Given the description of an element on the screen output the (x, y) to click on. 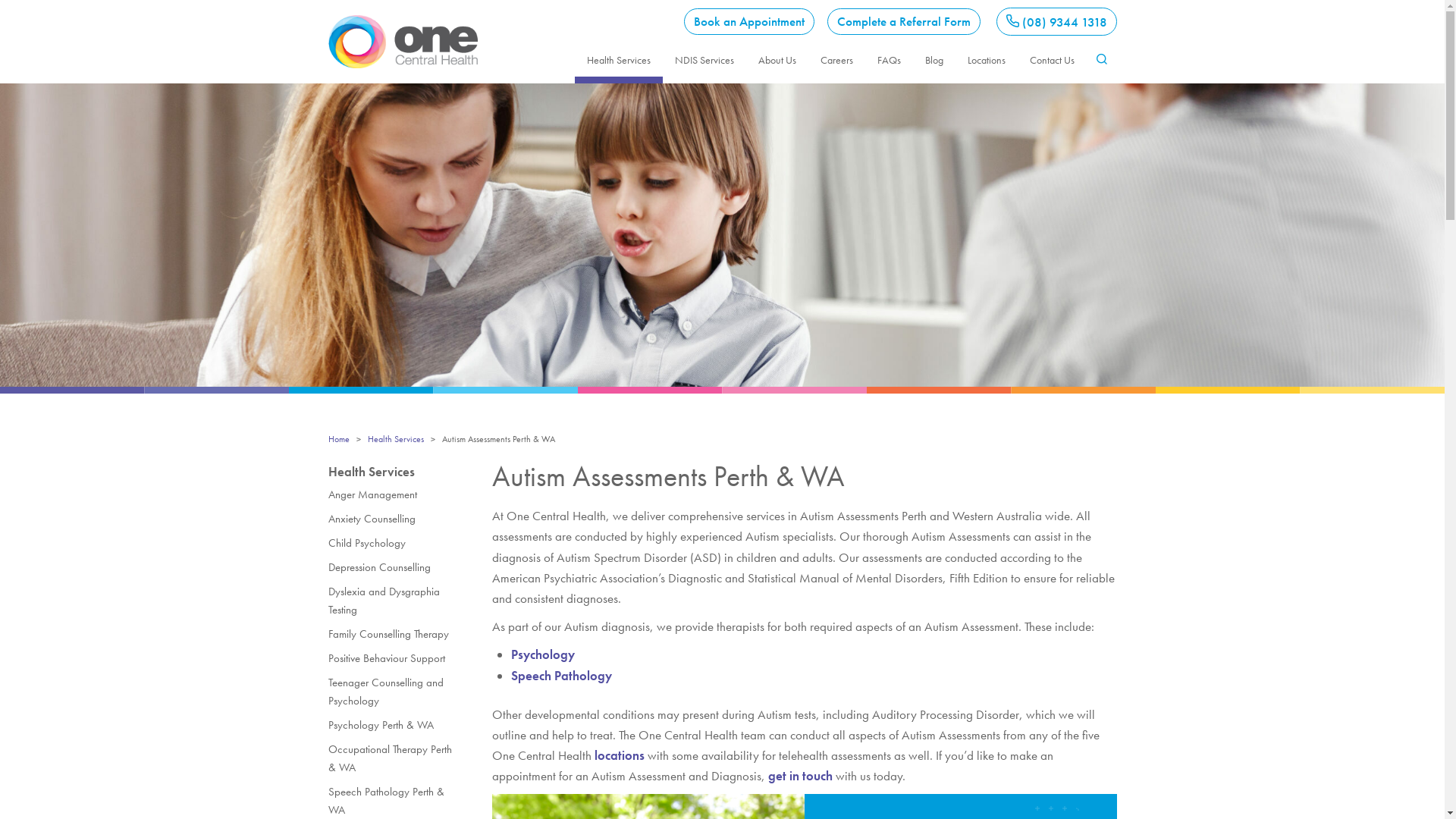
Search Element type: text (1100, 98)
Health Services Element type: text (618, 59)
FAQs Element type: text (888, 59)
Dyslexia and Dysgraphia Testing Element type: text (394, 600)
Family Counselling Therapy Element type: text (394, 633)
Depression Counselling Element type: text (394, 567)
Psychology Perth & WA Element type: text (394, 724)
Locations Element type: text (986, 59)
Positive Behaviour Support Element type: text (394, 658)
Book an Appointment Element type: text (749, 21)
Occupational Therapy Perth & WA Element type: text (394, 758)
About Us Element type: text (777, 59)
get in touch Element type: text (799, 775)
locations Element type: text (619, 754)
Psychology Element type: text (542, 654)
(08) 9344 1318 Element type: text (1056, 21)
Speech Pathology Element type: text (561, 675)
Logo Element type: hover (401, 41)
Complete a Referral Form Element type: text (902, 21)
Anger Management Element type: text (394, 494)
Teenager Counselling and Psychology Element type: text (394, 691)
Health Services Element type: text (395, 439)
Anxiety Counselling Element type: text (394, 518)
NDIS Services Element type: text (704, 59)
Home Element type: text (337, 439)
Health Services Element type: text (370, 471)
Child Psychology Element type: text (394, 542)
Contact Us Element type: text (1051, 59)
Careers Element type: text (836, 59)
Blog Element type: text (934, 59)
